Given the description of an element on the screen output the (x, y) to click on. 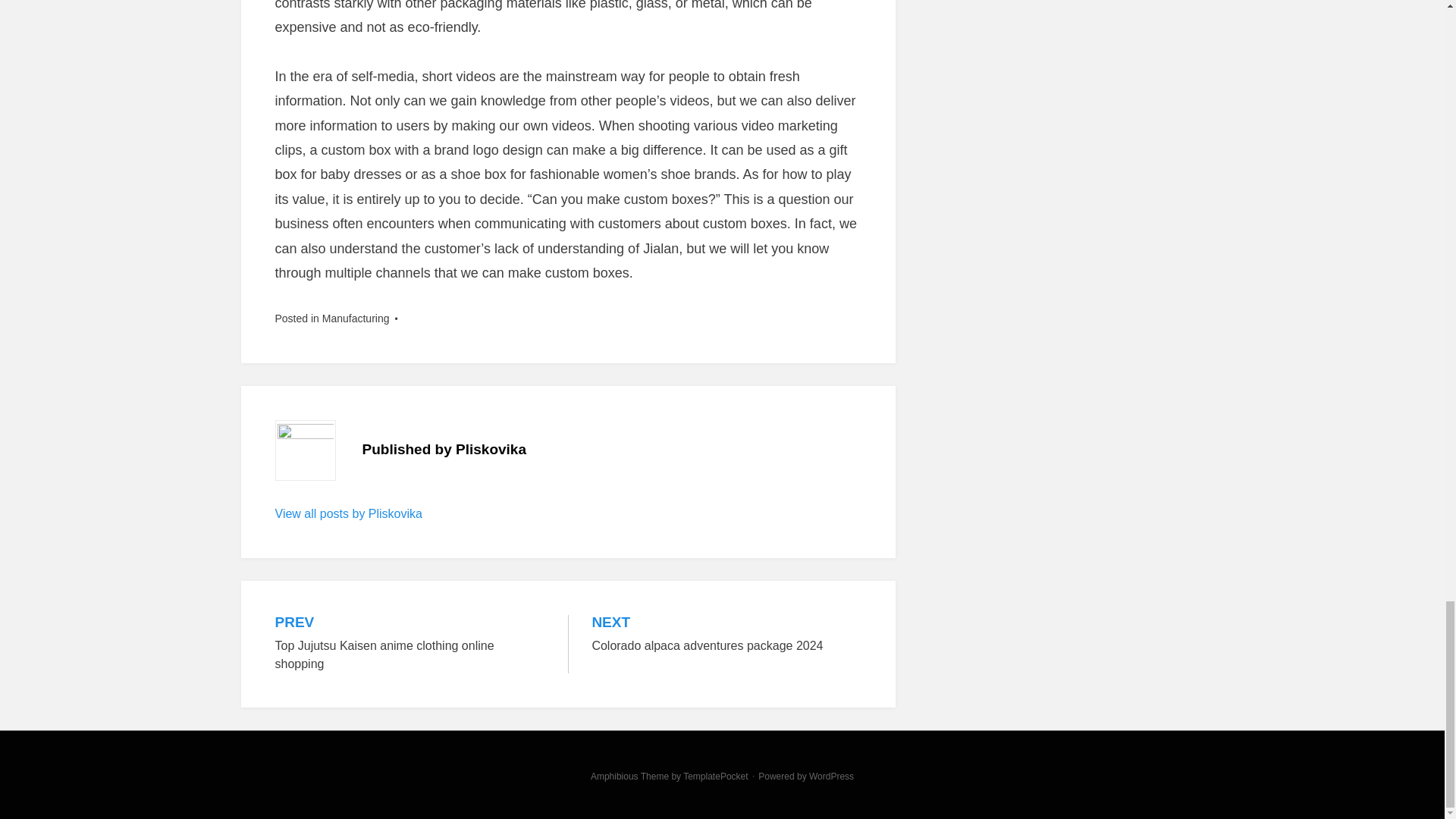
View all posts by Pliskovika (348, 513)
WordPress (831, 776)
TemplatePocket (715, 776)
Manufacturing (355, 318)
WordPress (831, 776)
TemplatePocket (726, 635)
